Given the description of an element on the screen output the (x, y) to click on. 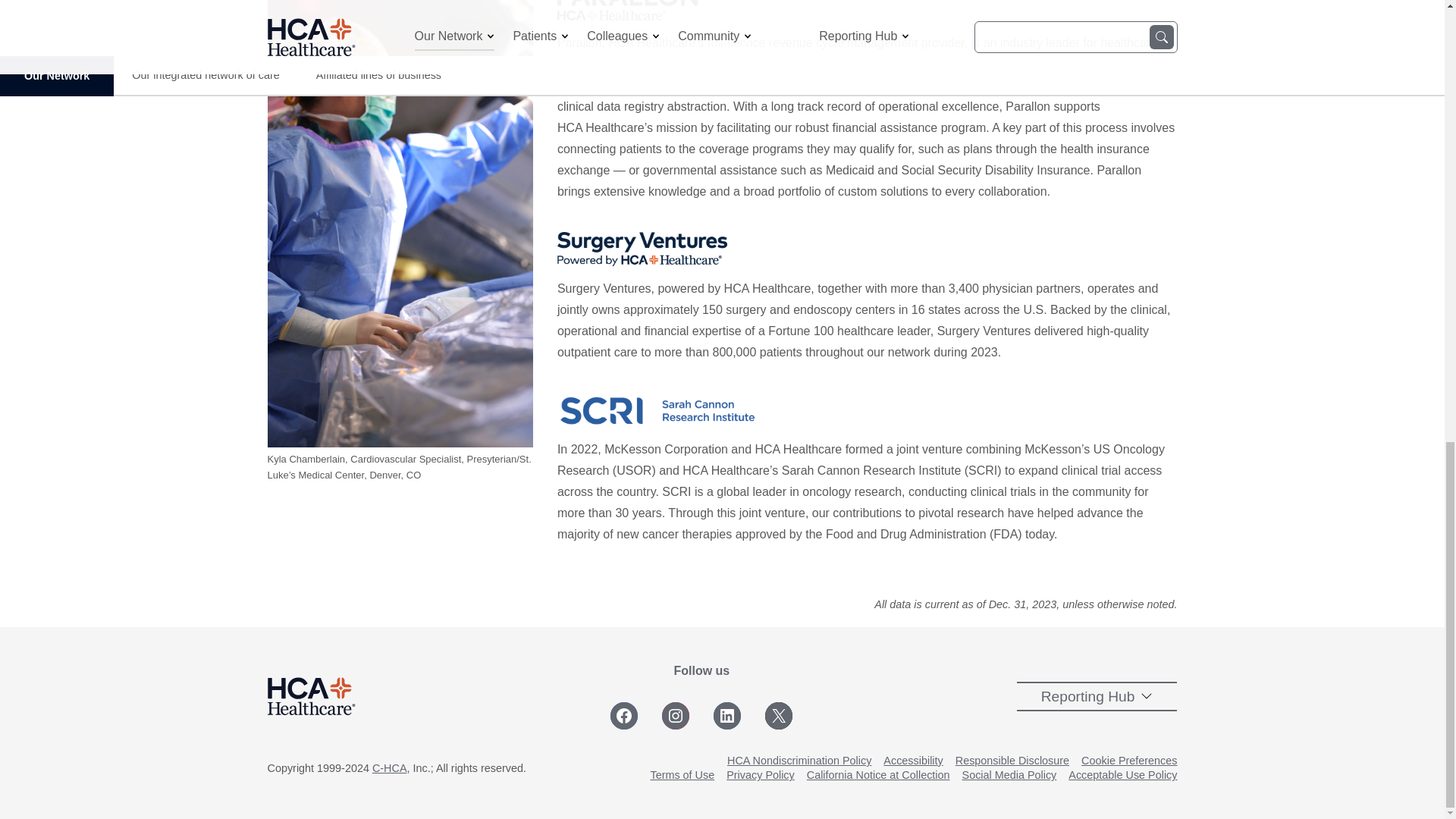
LinkedIn (727, 715)
Facebook (623, 715)
Instagram (675, 715)
X (778, 715)
Reporting Hub (1096, 696)
